Given the description of an element on the screen output the (x, y) to click on. 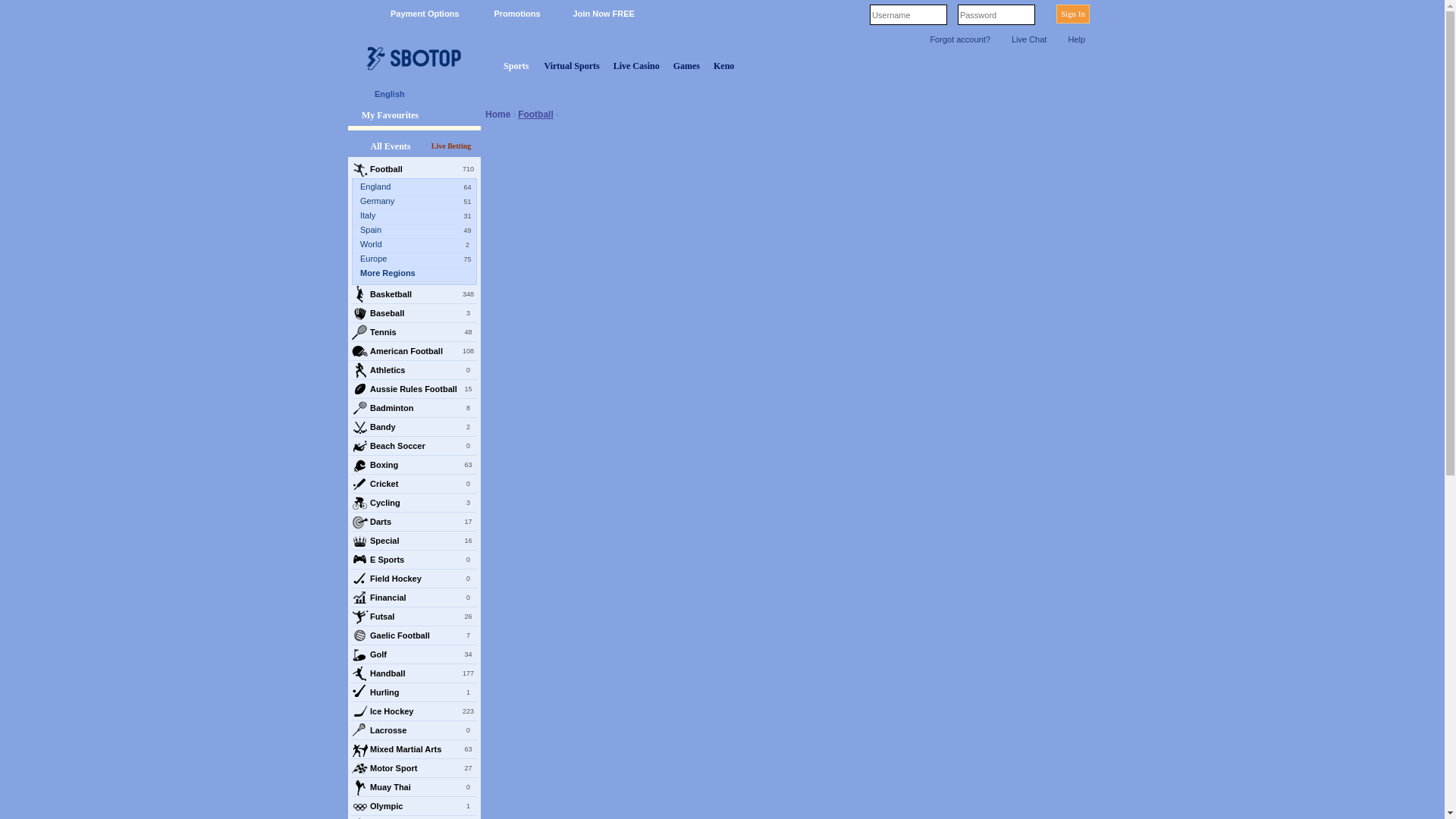
My Favourites Element type: text (414, 117)
Darts
17 Element type: text (413, 521)
Golf
34 Element type: text (413, 654)
Live Casino Element type: text (636, 65)
E Sports
0 Element type: text (413, 559)
All Events Element type: text (390, 146)
Spain
49 Element type: text (418, 231)
Payment Options Element type: text (414, 13)
Handball
177 Element type: text (413, 673)
My Favourites Element type: text (383, 114)
Basketball
348 Element type: text (413, 294)
Olympic
1 Element type: text (413, 806)
Motor Sport
27 Element type: text (413, 768)
Promotions Element type: text (506, 13)
Virtual Sports Element type: text (571, 65)
Unavailable option Element type: hover (1010, 94)
Unavailable option Element type: hover (1075, 94)
Bandy
2 Element type: text (413, 426)
Tennis
48 Element type: text (413, 332)
Aussie Rules Football
15 Element type: text (413, 388)
Italy
31 Element type: text (418, 216)
Live Chat Element type: text (1024, 39)
Live Betting Element type: text (450, 146)
Mixed Martial Arts
63 Element type: text (413, 749)
Help Element type: text (1071, 39)
Join Now FREE Element type: text (594, 13)
Europe
75 Element type: text (418, 259)
SBOTOP Sports | Online Sports Live Betting - Join Now! Element type: hover (409, 63)
Unavailable option Element type: hover (1042, 94)
Cycling
3 Element type: text (413, 502)
Keno Element type: text (723, 65)
Beach Soccer
0 Element type: text (413, 445)
England
64 Element type: text (418, 187)
More Regions Element type: text (418, 274)
Muay Thai
0 Element type: text (413, 787)
Badminton
8 Element type: text (413, 407)
Home Element type: text (481, 65)
Boxing
63 Element type: text (413, 464)
Germany
51 Element type: text (418, 202)
Baseball
3 Element type: text (413, 313)
Hurling
1 Element type: text (413, 692)
Games Element type: text (686, 65)
Special
16 Element type: text (413, 540)
American Football
108 Element type: text (413, 351)
Sports Element type: text (515, 65)
Help Element type: hover (471, 114)
Football Element type: text (535, 114)
Lacrosse
0 Element type: text (413, 730)
Athletics
0 Element type: text (413, 369)
Home Element type: text (497, 113)
Futsal
26 Element type: text (413, 616)
Football
710 Element type: text (413, 169)
Forgot your password? Element type: hover (1041, 14)
Field Hockey
0 Element type: text (413, 578)
World
2 Element type: text (418, 245)
Cricket
0 Element type: text (413, 483)
Ice Hockey
223 Element type: text (413, 711)
Sign In
Payment Options
Promotions
Join Now FREE Element type: text (722, 15)
English Element type: text (386, 94)
Gaelic Football
7 Element type: text (413, 635)
Sign In Element type: text (1072, 13)
Live Casino Element type: text (636, 65)
Financial
0 Element type: text (413, 597)
